Given the description of an element on the screen output the (x, y) to click on. 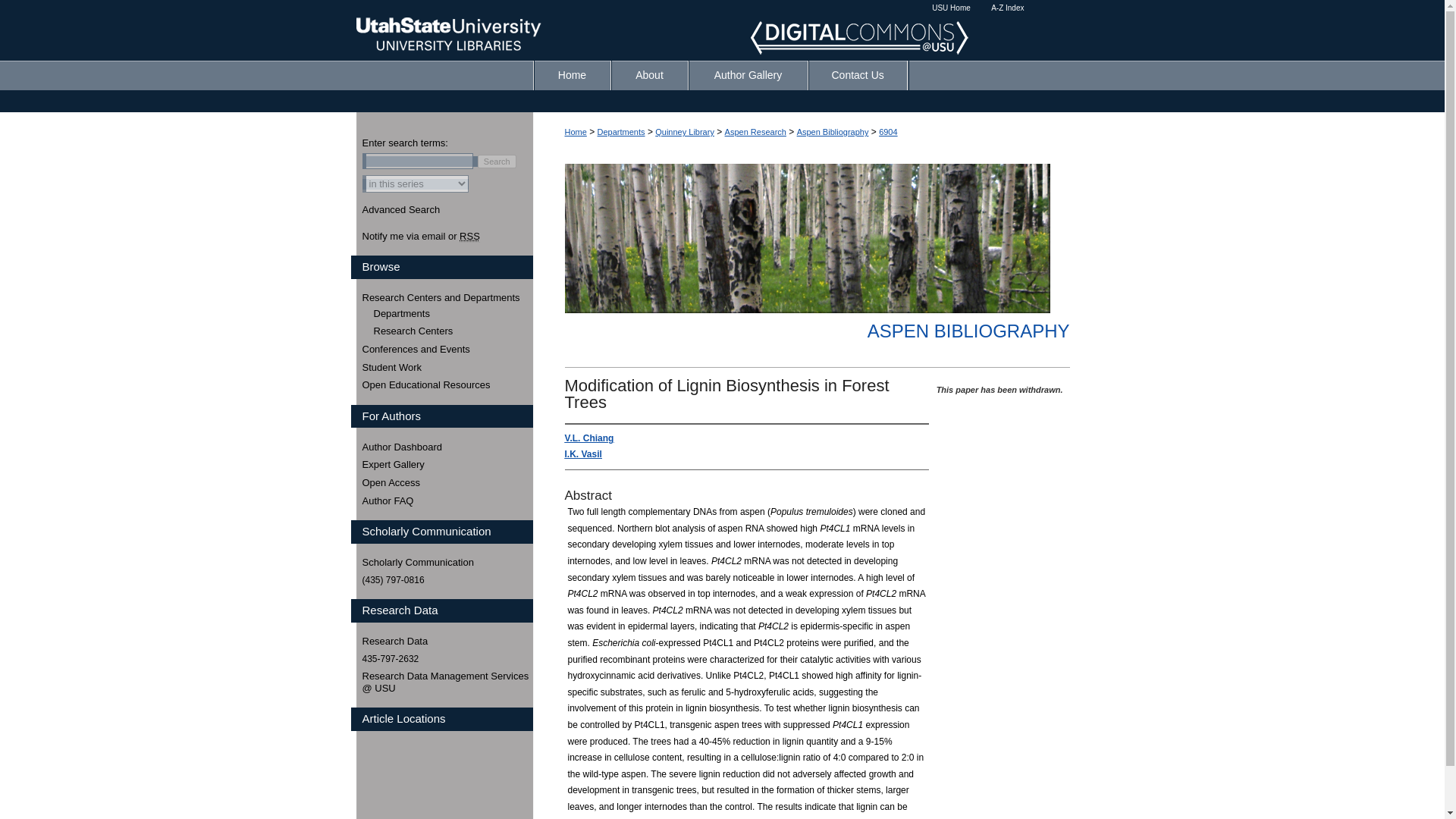
Author Gallery (748, 75)
Research Centers (452, 331)
Conferences and Events (447, 349)
Email or RSS Notifications (447, 236)
Search (496, 161)
Notify me via email or RSS (447, 236)
Aspen Research (755, 131)
Departments (452, 313)
A-Z Index (1006, 8)
Open Access (447, 482)
Search (496, 161)
Really Simple Syndication (470, 236)
Research Centers and Departments (447, 297)
V.L. Chiang (588, 438)
Search (496, 161)
